Given the description of an element on the screen output the (x, y) to click on. 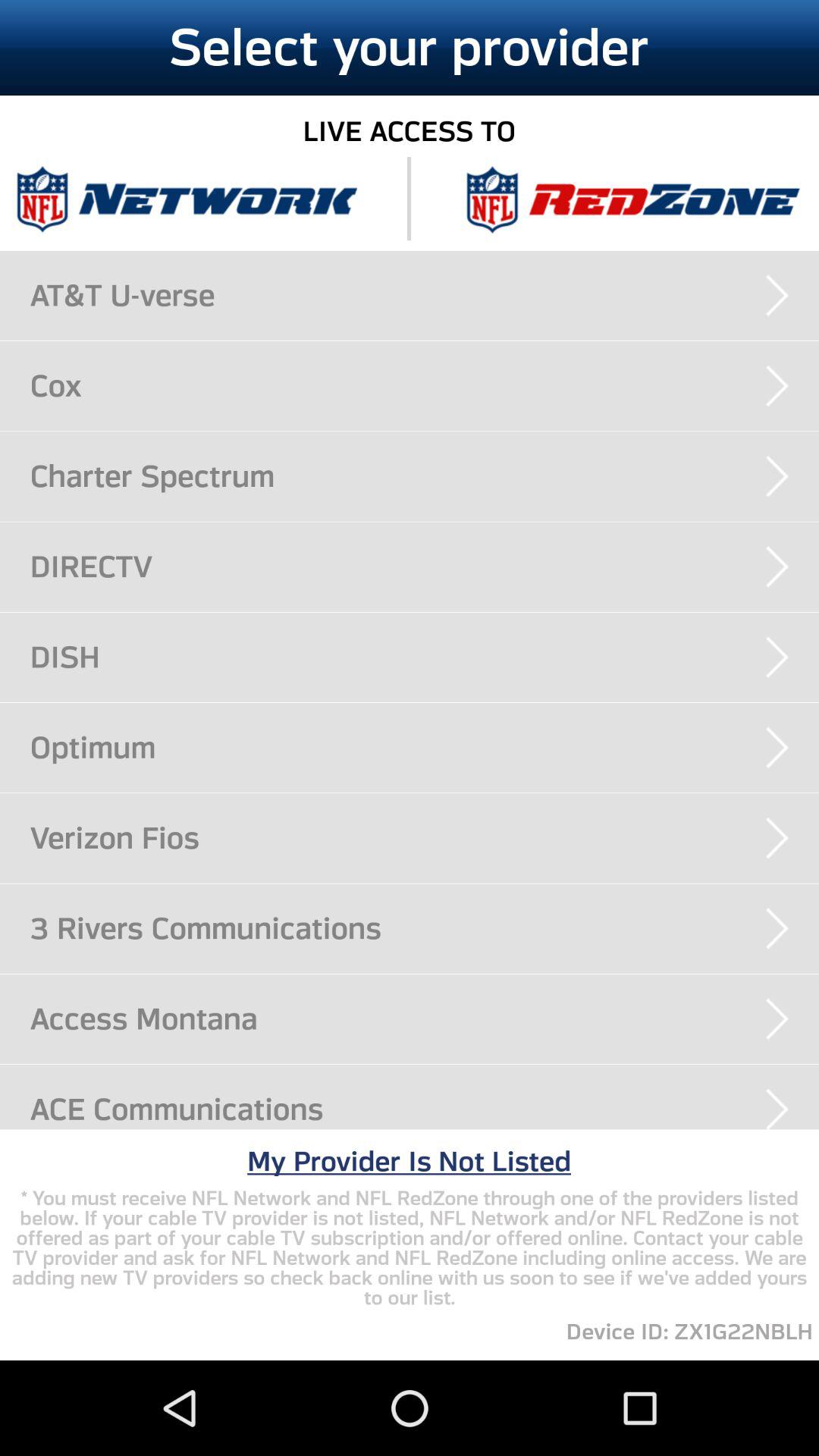
flip to the directv (424, 566)
